Given the description of an element on the screen output the (x, y) to click on. 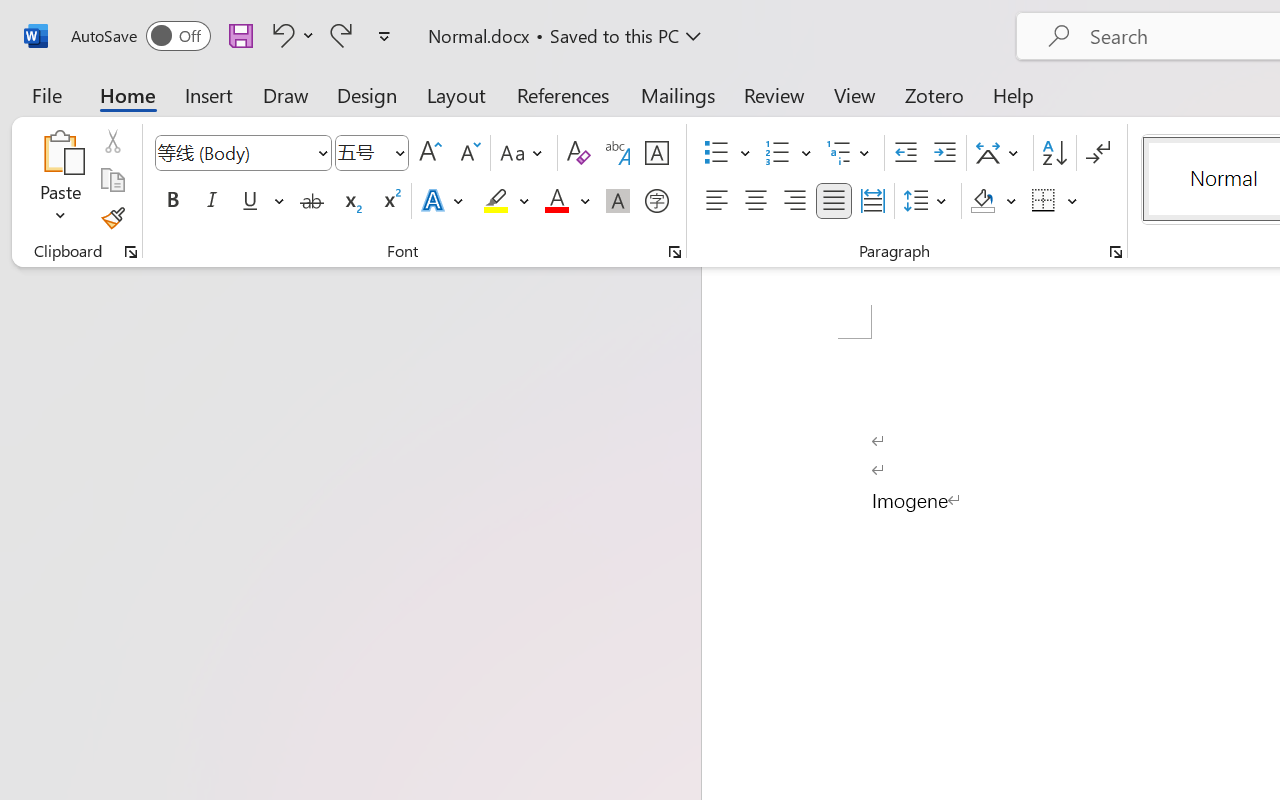
Font... (675, 252)
Align Left (716, 201)
Clear Formatting (578, 153)
Text Highlight Color (506, 201)
Center (756, 201)
Increase Indent (944, 153)
Text Highlight Color Yellow (495, 201)
Line and Paragraph Spacing (927, 201)
